Given the description of an element on the screen output the (x, y) to click on. 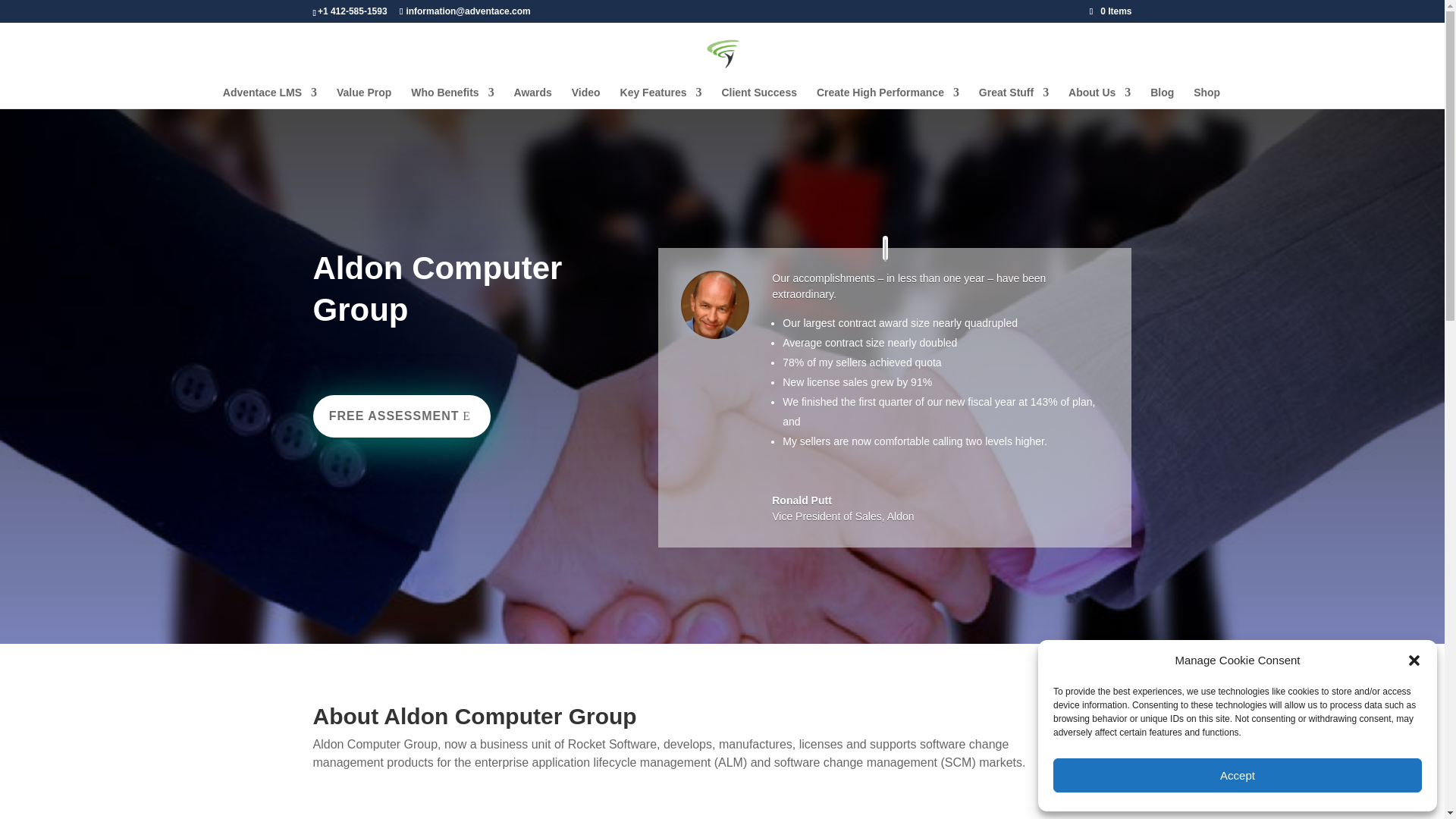
Key Features (660, 97)
Value Prop (363, 97)
Who Benefits (451, 97)
Adventace LMS (269, 97)
0 Items (1110, 10)
Awards (532, 97)
Accept (1237, 775)
Video (585, 97)
